Given the description of an element on the screen output the (x, y) to click on. 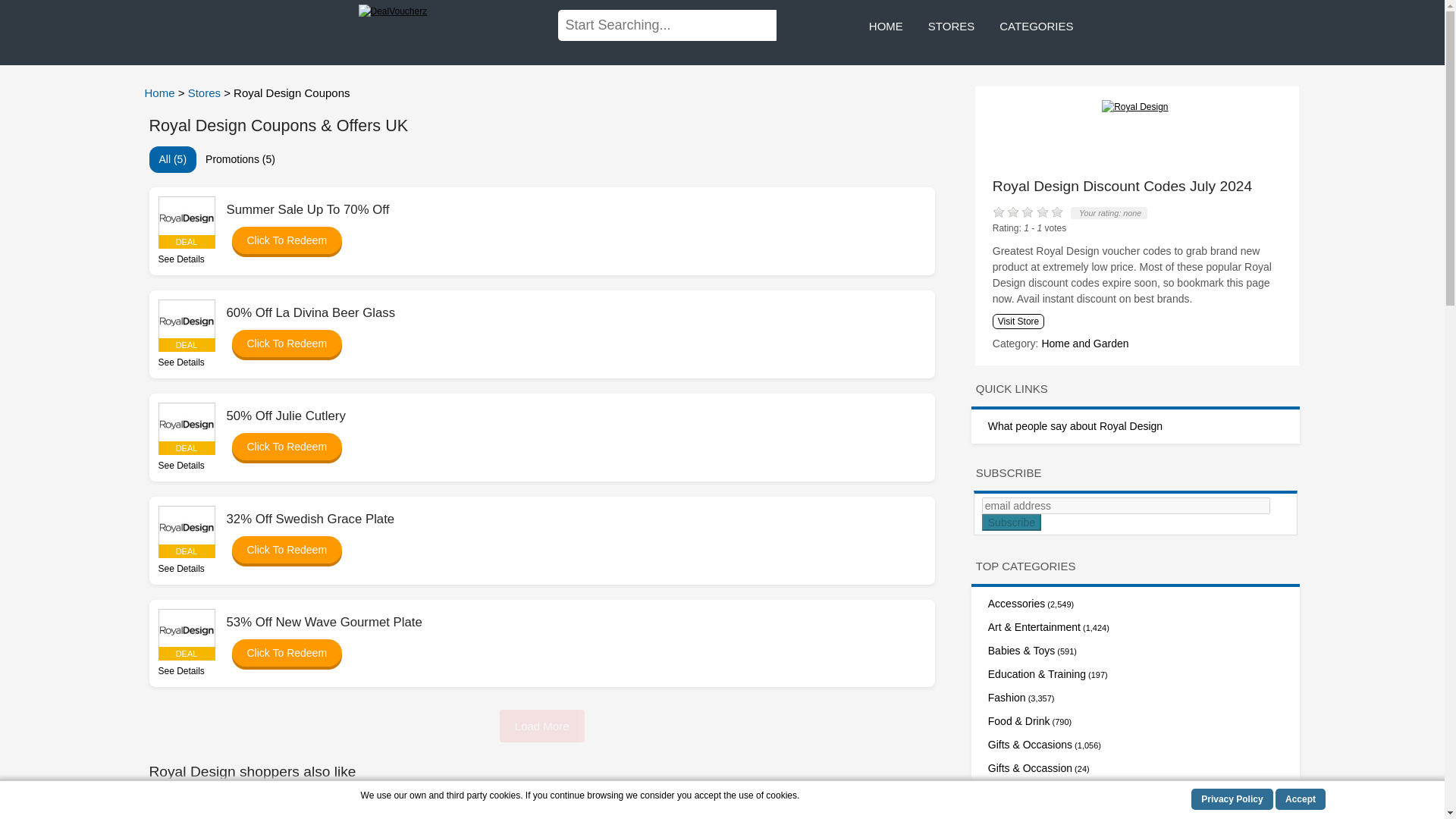
HOME (885, 27)
Click To Redeem (279, 239)
Home (160, 92)
Subscribe (1011, 522)
Click To Redeem (279, 343)
STORES (951, 27)
Stores (205, 92)
CATEGORIES (1035, 27)
